Given the description of an element on the screen output the (x, y) to click on. 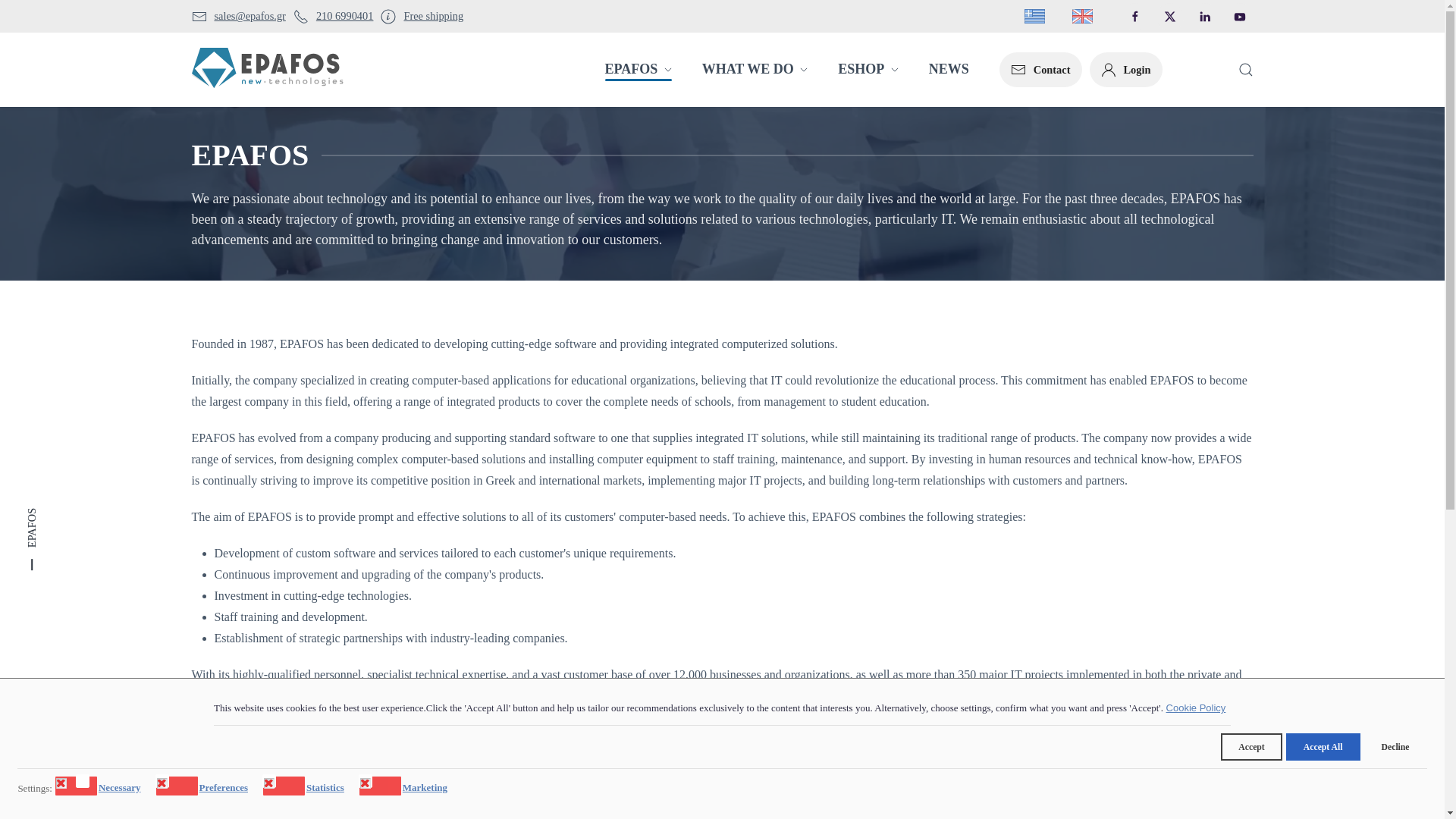
Marketing (427, 785)
Free shipping (421, 15)
Preferences (224, 785)
Share to Linkedin (1169, 804)
Share to facebook (1099, 804)
Accept All (1322, 746)
210 6990401 (334, 15)
EPAFOS (721, 155)
Accept (1251, 746)
Select which cookies you will allow to be used. (34, 787)
Share to Vivaldi Social Mastodon (1239, 804)
Cookie Policy (1196, 707)
Share to Twitter (1134, 804)
Statistics (327, 785)
